Given the description of an element on the screen output the (x, y) to click on. 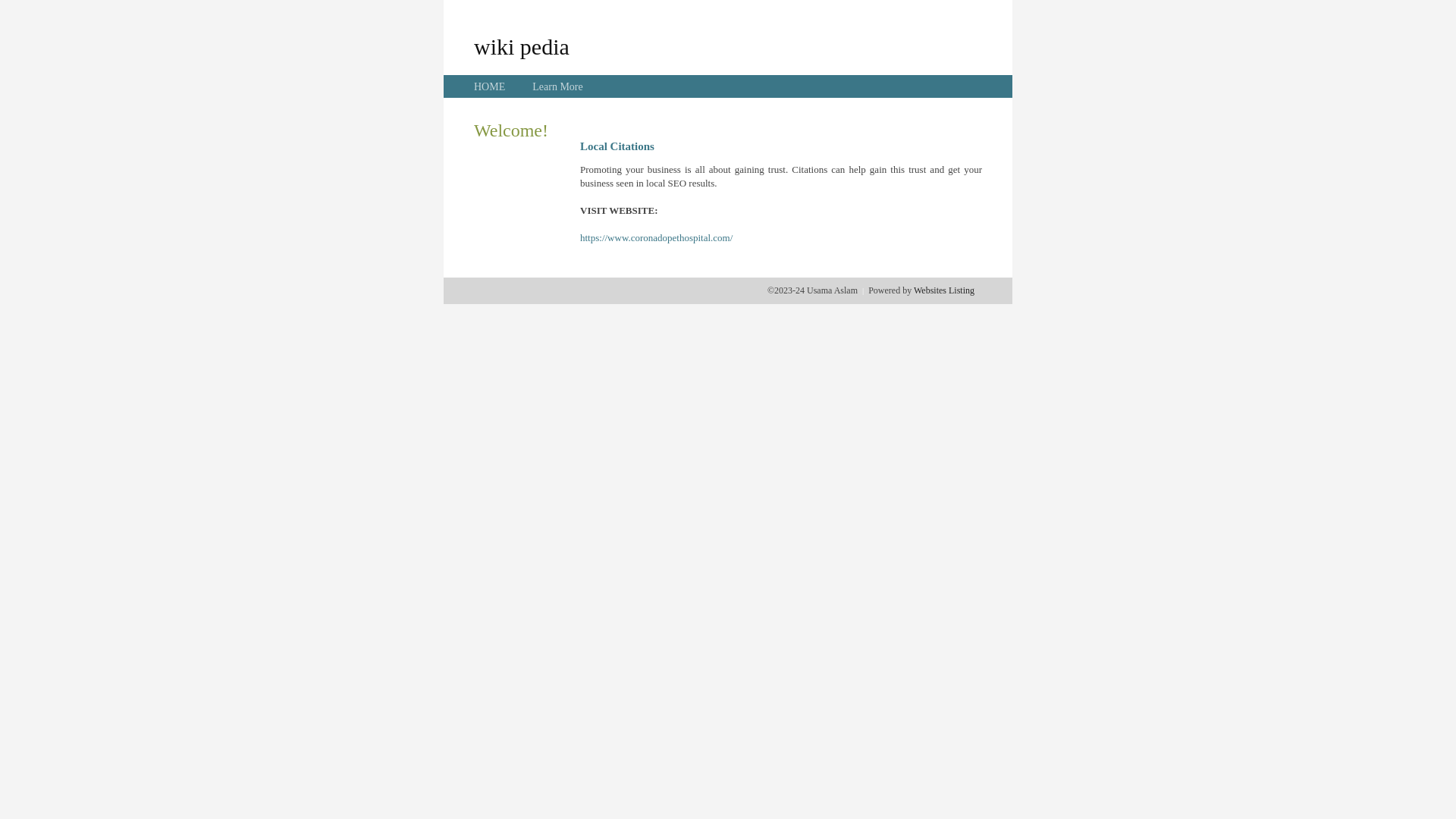
HOME Element type: text (489, 86)
https://www.coronadopethospital.com/ Element type: text (656, 237)
wiki pedia Element type: text (521, 46)
Learn More Element type: text (557, 86)
Websites Listing Element type: text (943, 290)
